Given the description of an element on the screen output the (x, y) to click on. 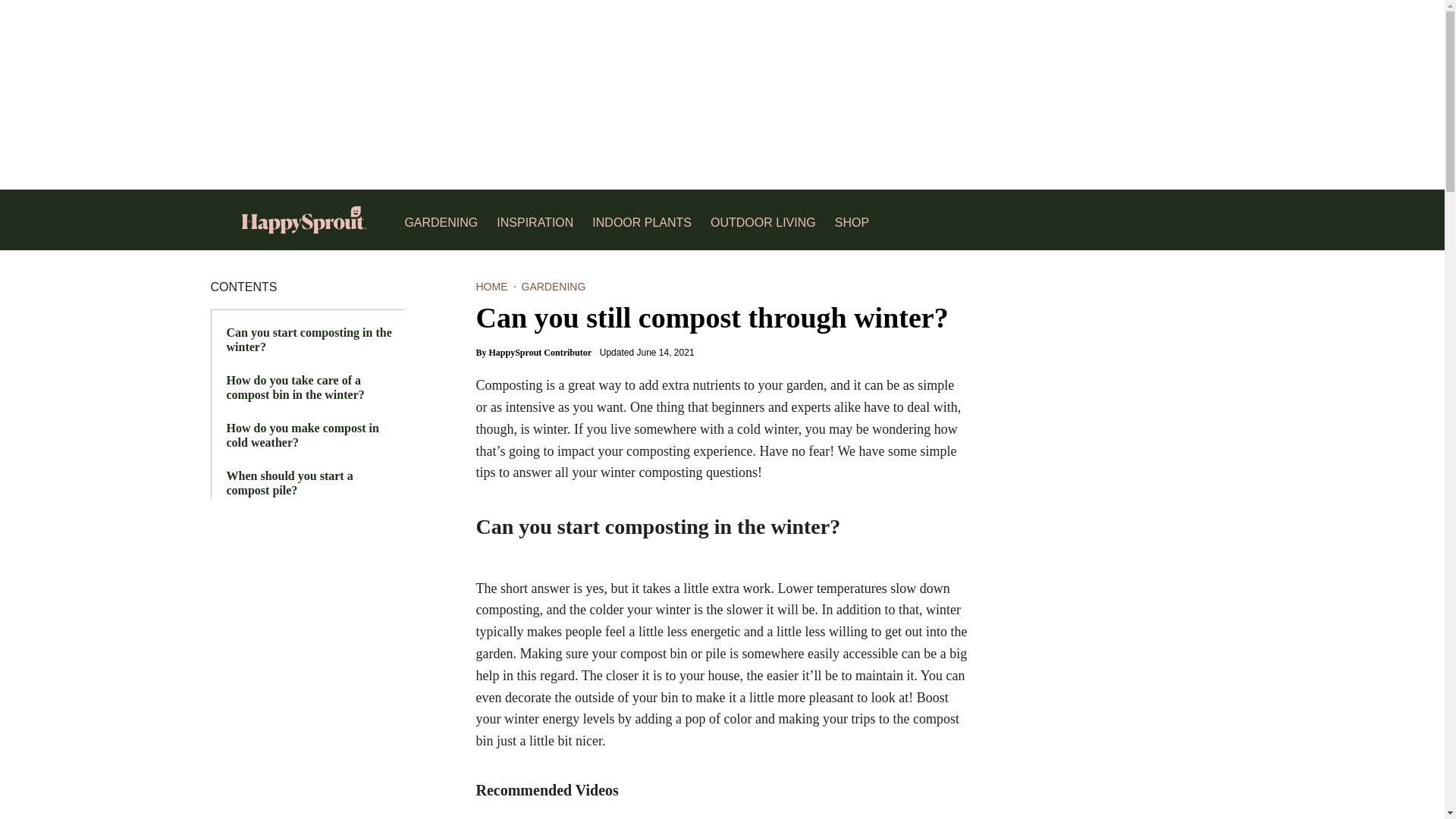
GARDENING (553, 286)
Can you start composting in the winter? (308, 339)
OUTDOOR LIVING (762, 219)
How do you take care of a compost bin in the winter? (294, 387)
INSPIRATION (534, 219)
HOME (492, 286)
When should you start a compost pile? (288, 483)
GARDENING (440, 219)
How do you make compost in cold weather? (301, 435)
HappySprout Contributor (541, 352)
